Given the description of an element on the screen output the (x, y) to click on. 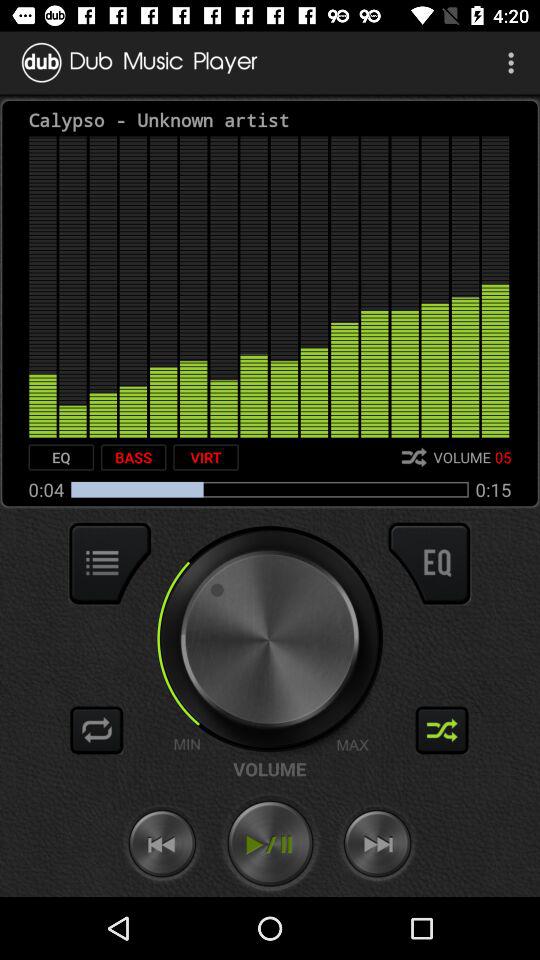
press item to the right of  bass (205, 457)
